Given the description of an element on the screen output the (x, y) to click on. 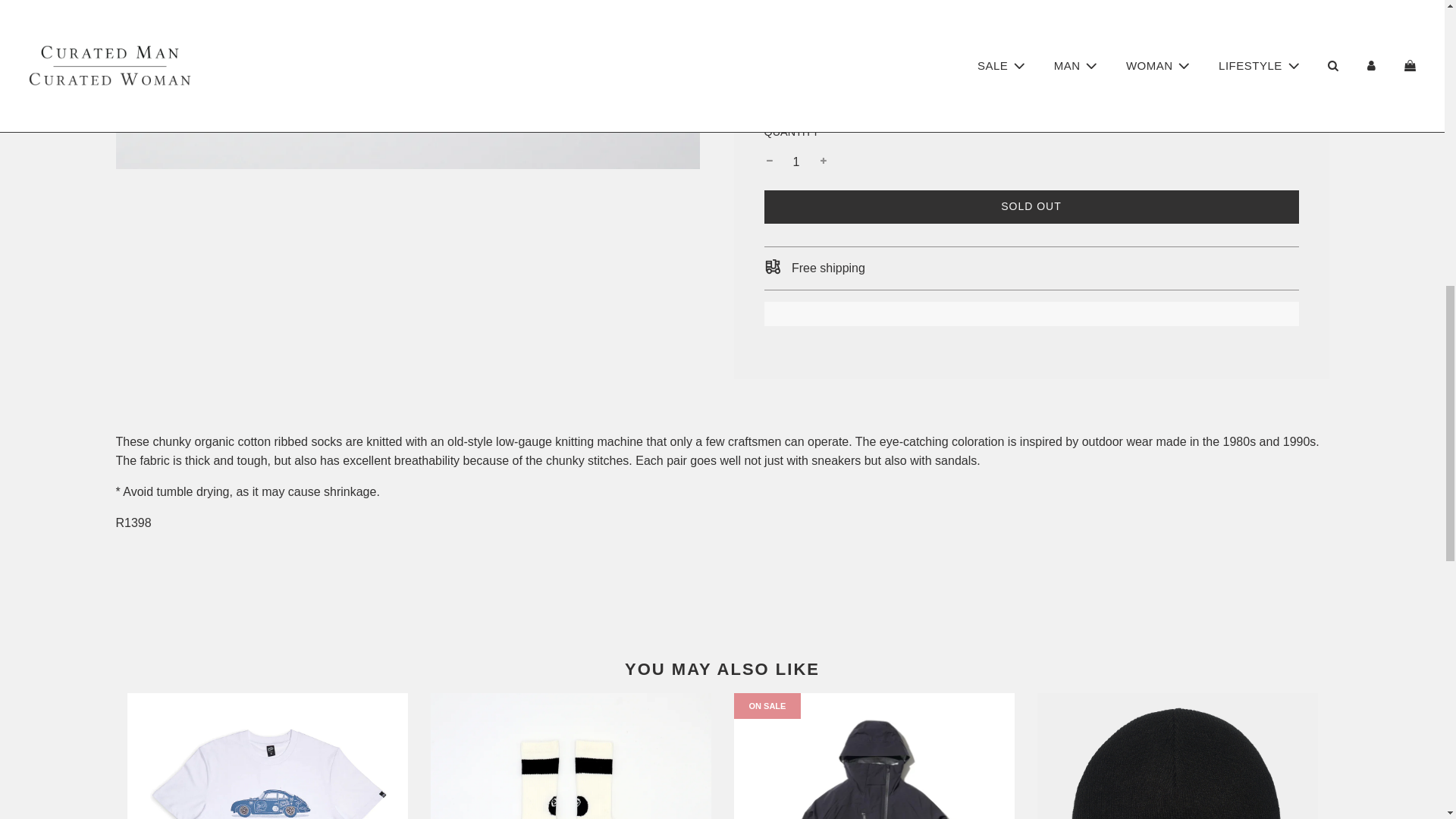
Acrylic Watch Hat - Black (1176, 755)
356 Porsche Tee - White (267, 755)
3L Rain Jacket - Black (873, 755)
8 Ball - White (570, 755)
